Given the description of an element on the screen output the (x, y) to click on. 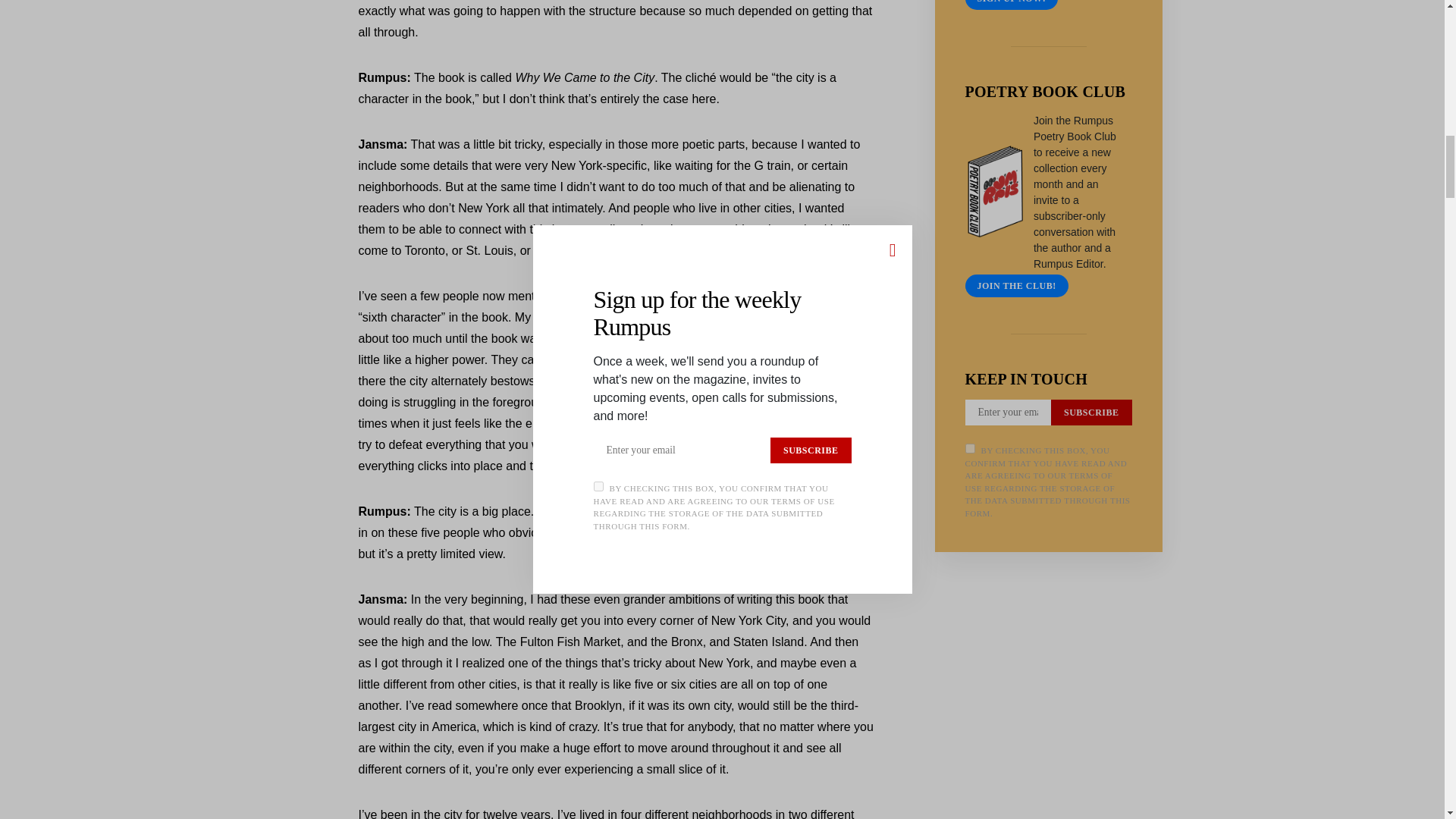
on (968, 448)
